Given the description of an element on the screen output the (x, y) to click on. 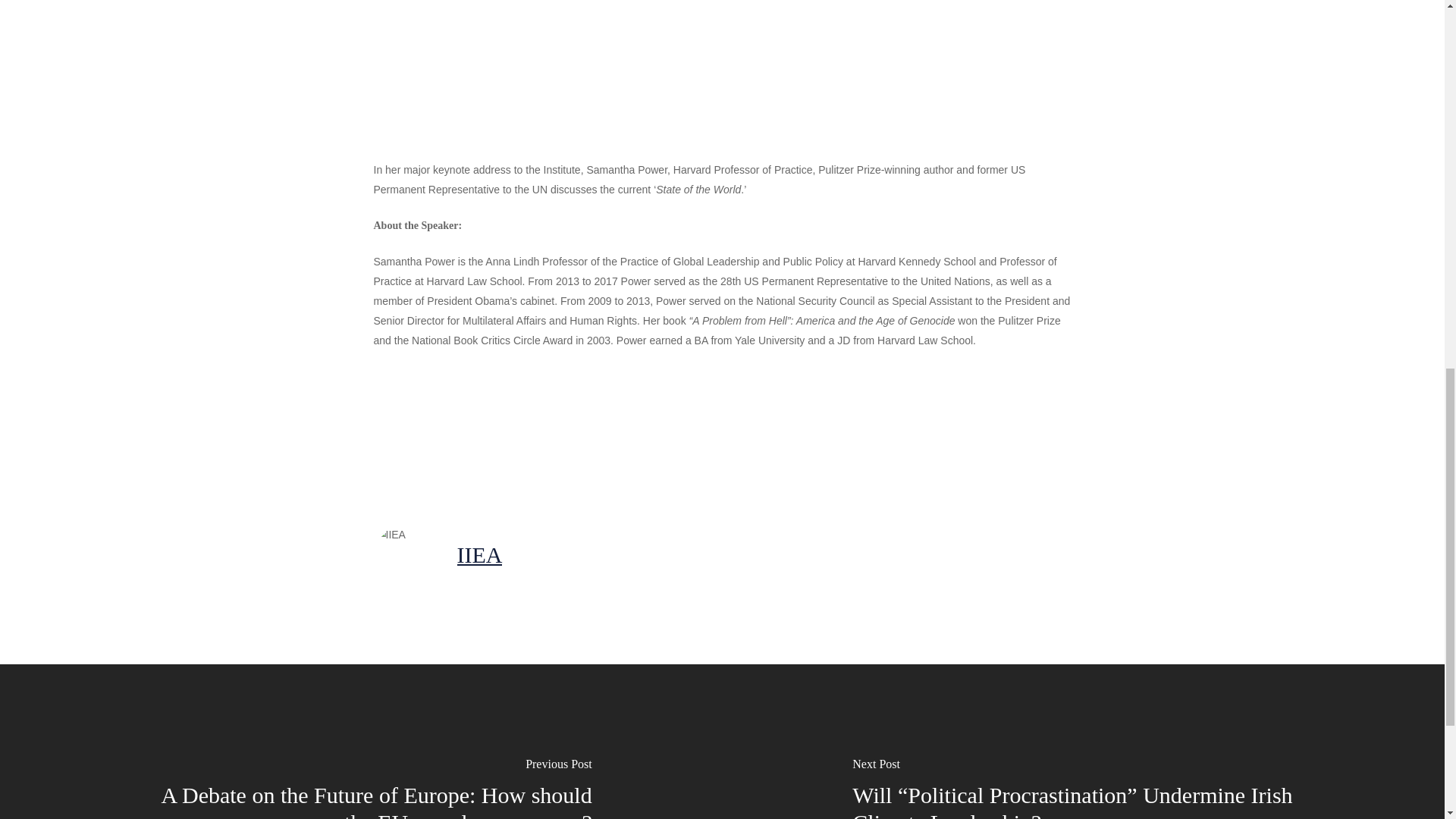
Pin (692, 433)
Pin this (692, 433)
Tweet this (510, 433)
Tweet (510, 433)
Share (604, 433)
Share this (414, 433)
Share this (604, 433)
Share (414, 433)
IIEA (479, 553)
